Given the description of an element on the screen output the (x, y) to click on. 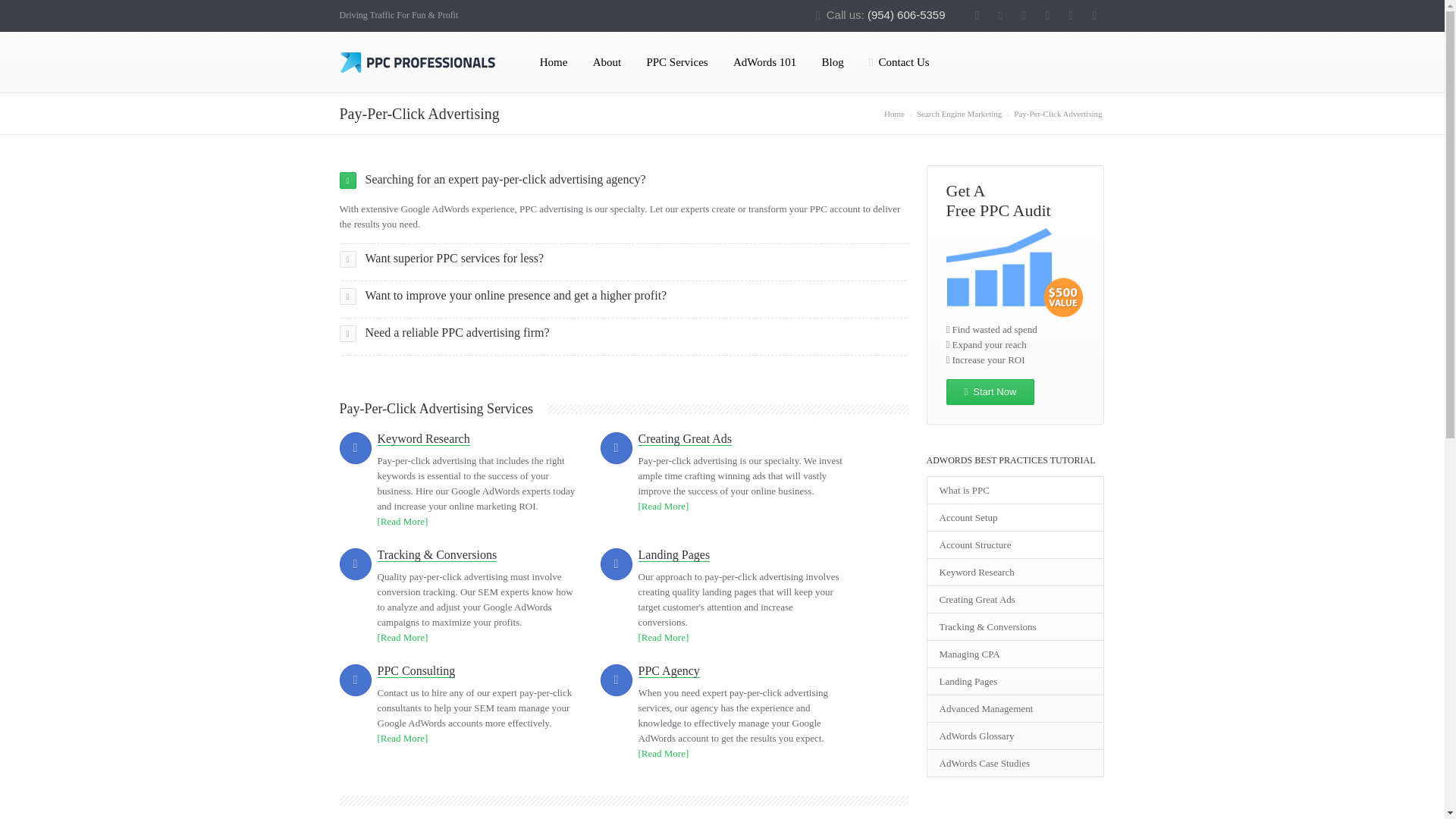
Keyword Research (423, 438)
PPC Services (676, 61)
Contact Us (898, 61)
Pay-Per-Click Advertising (1057, 112)
AdWords 101 (765, 61)
Home (893, 112)
Creating Great Ads (685, 438)
Contact PPC Professionals (898, 61)
Search Engine Marketing (959, 112)
Adwords Best Practices Tutorial (765, 61)
